Given the description of an element on the screen output the (x, y) to click on. 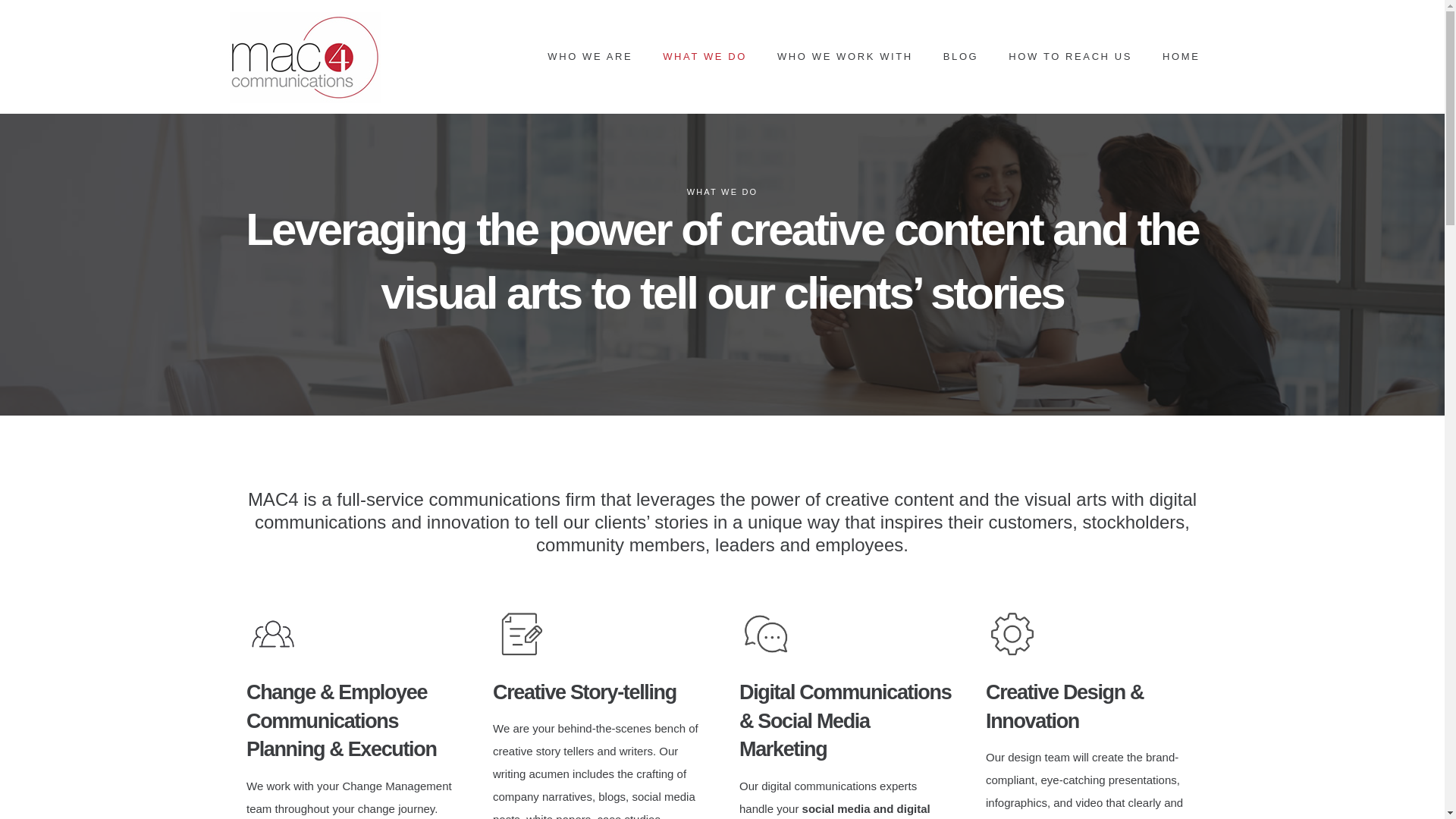
WHAT WE DO (704, 56)
HOW TO REACH US (1069, 56)
WHO WE WORK WITH (844, 56)
WHO WE ARE (589, 56)
